Given the description of an element on the screen output the (x, y) to click on. 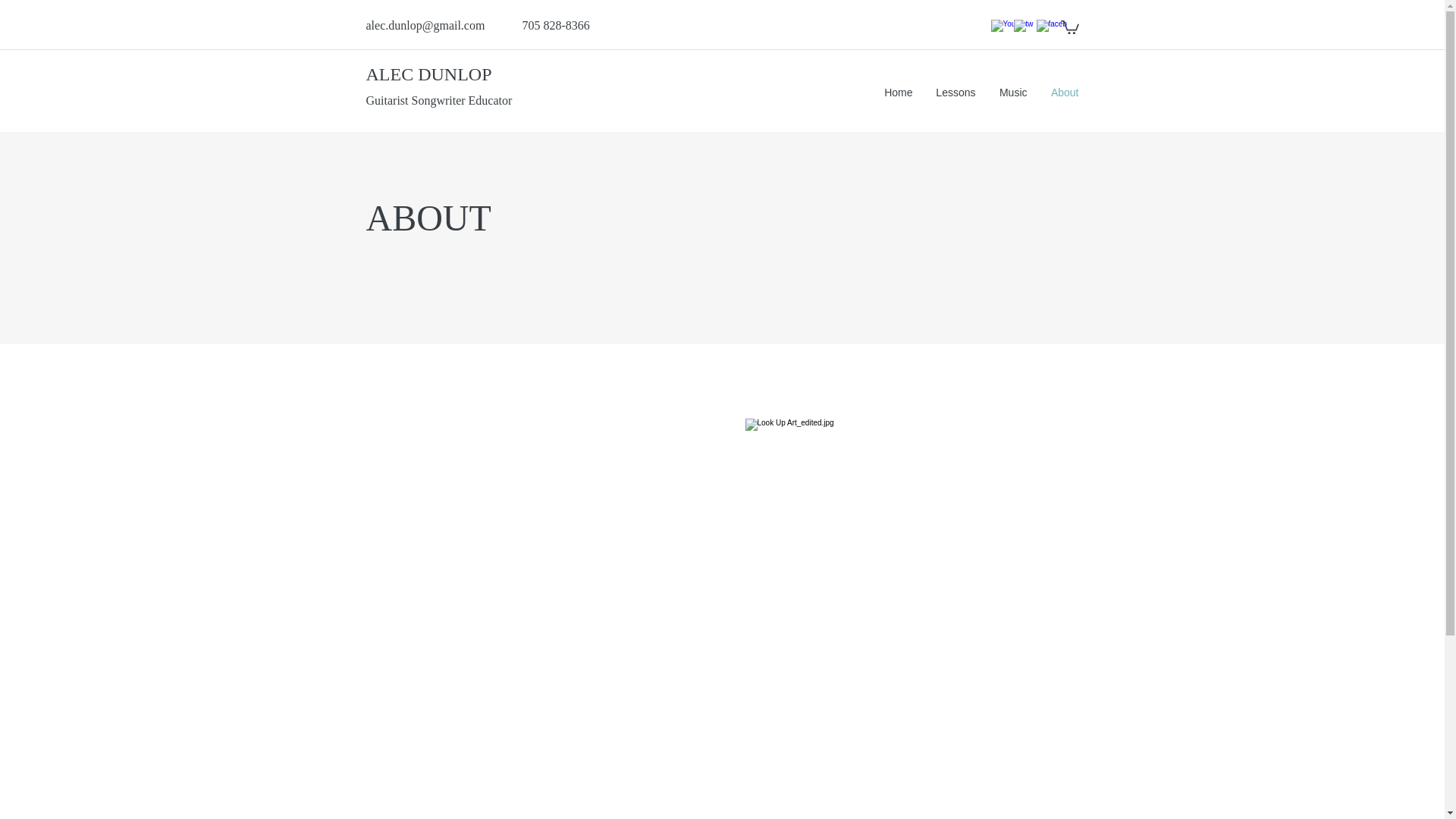
Music (1013, 92)
Lessons (955, 92)
About (1064, 92)
Home (897, 92)
